Given the description of an element on the screen output the (x, y) to click on. 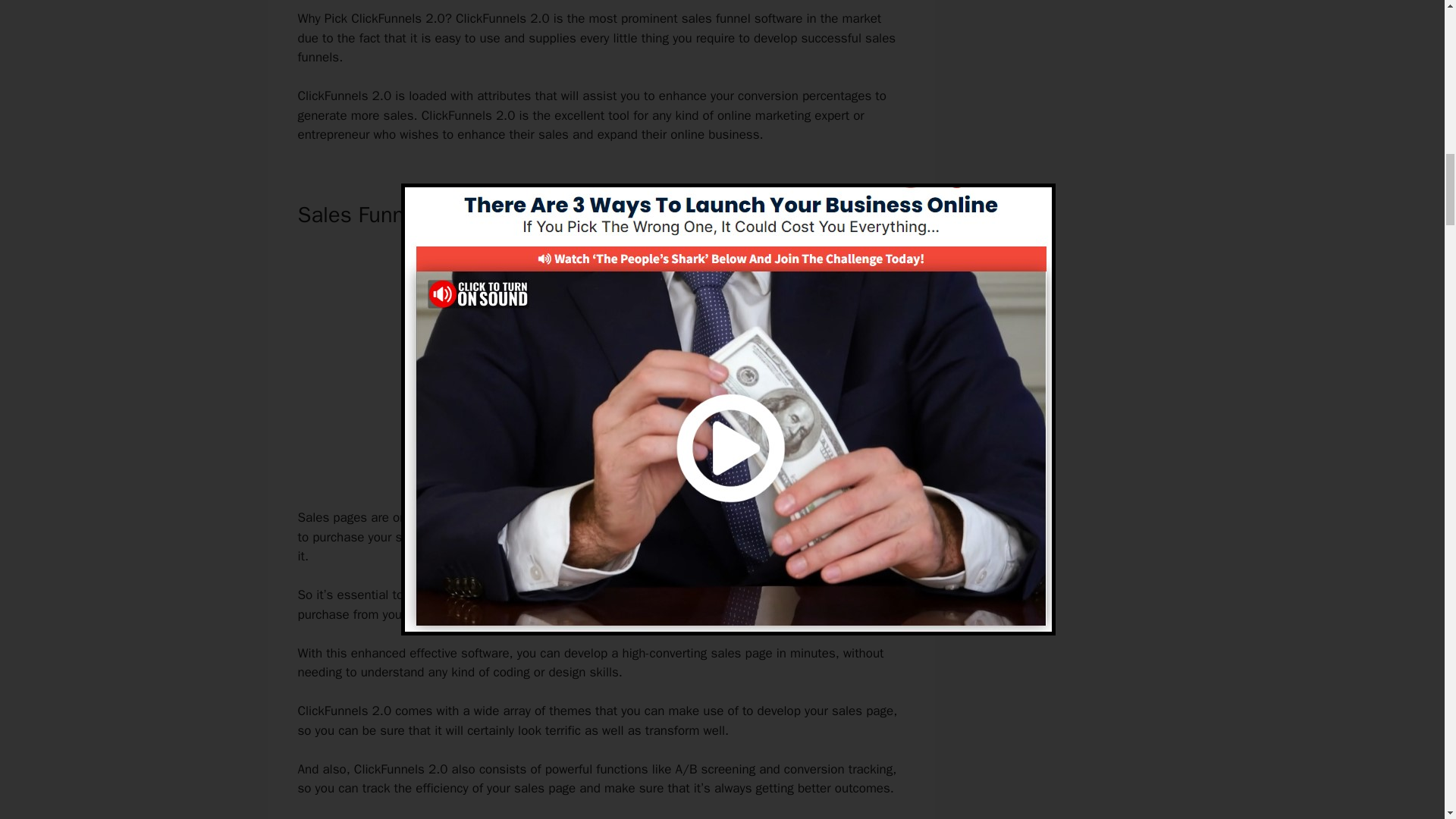
YouTube video player (596, 363)
